Given the description of an element on the screen output the (x, y) to click on. 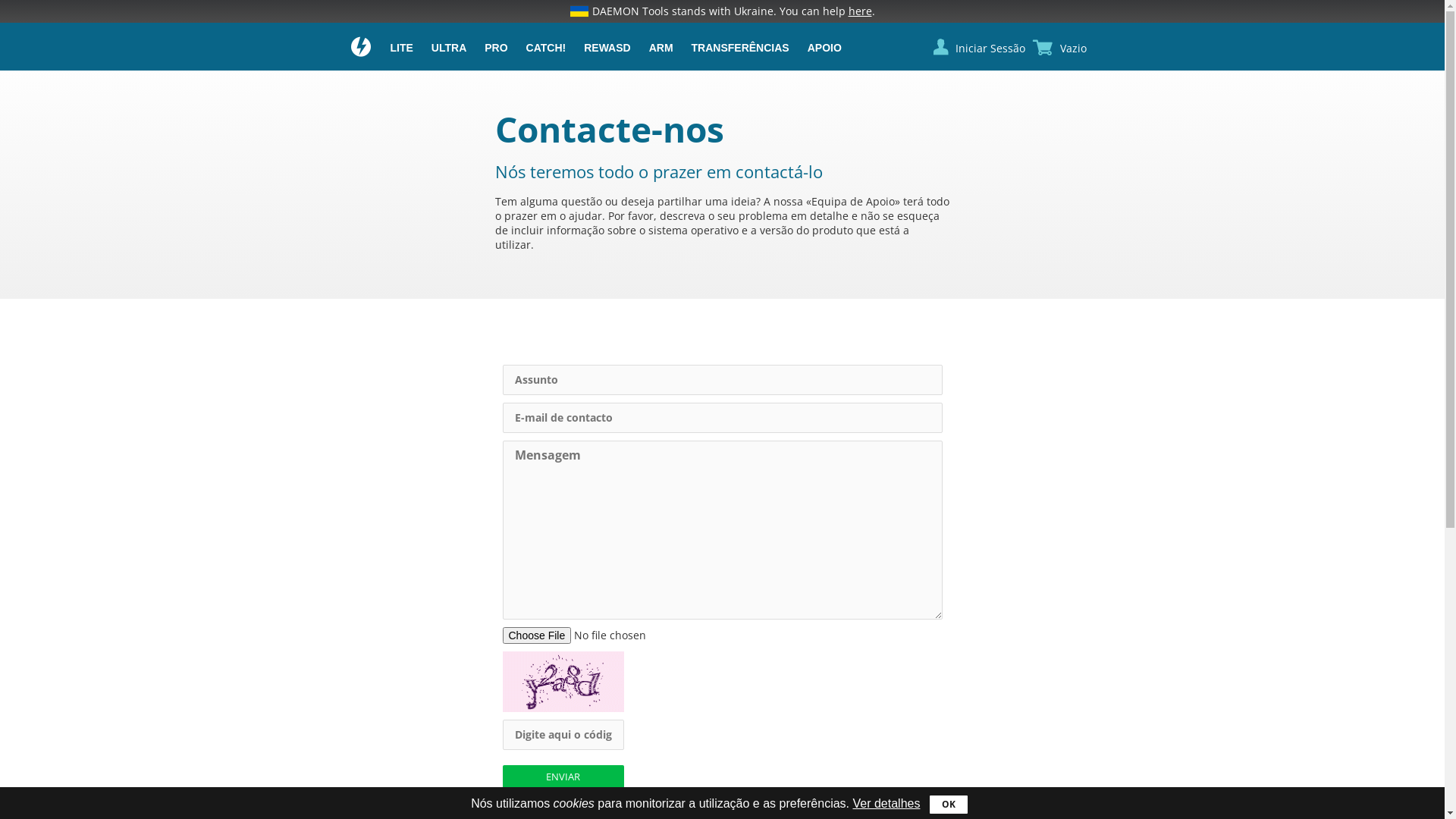
Ver detalhes Element type: text (885, 803)
here Element type: text (859, 10)
Vazio Element type: text (1073, 47)
CATCH! Element type: text (546, 47)
Daemon Tools Element type: text (360, 48)
ENVIAR Element type: text (721, 776)
LITE Element type: text (400, 47)
PRO Element type: text (495, 47)
ARM Element type: text (661, 47)
APOIO Element type: text (824, 47)
ENVIAR Element type: text (562, 776)
ULTRA Element type: text (448, 47)
REWASD Element type: text (606, 47)
